Given the description of an element on the screen output the (x, y) to click on. 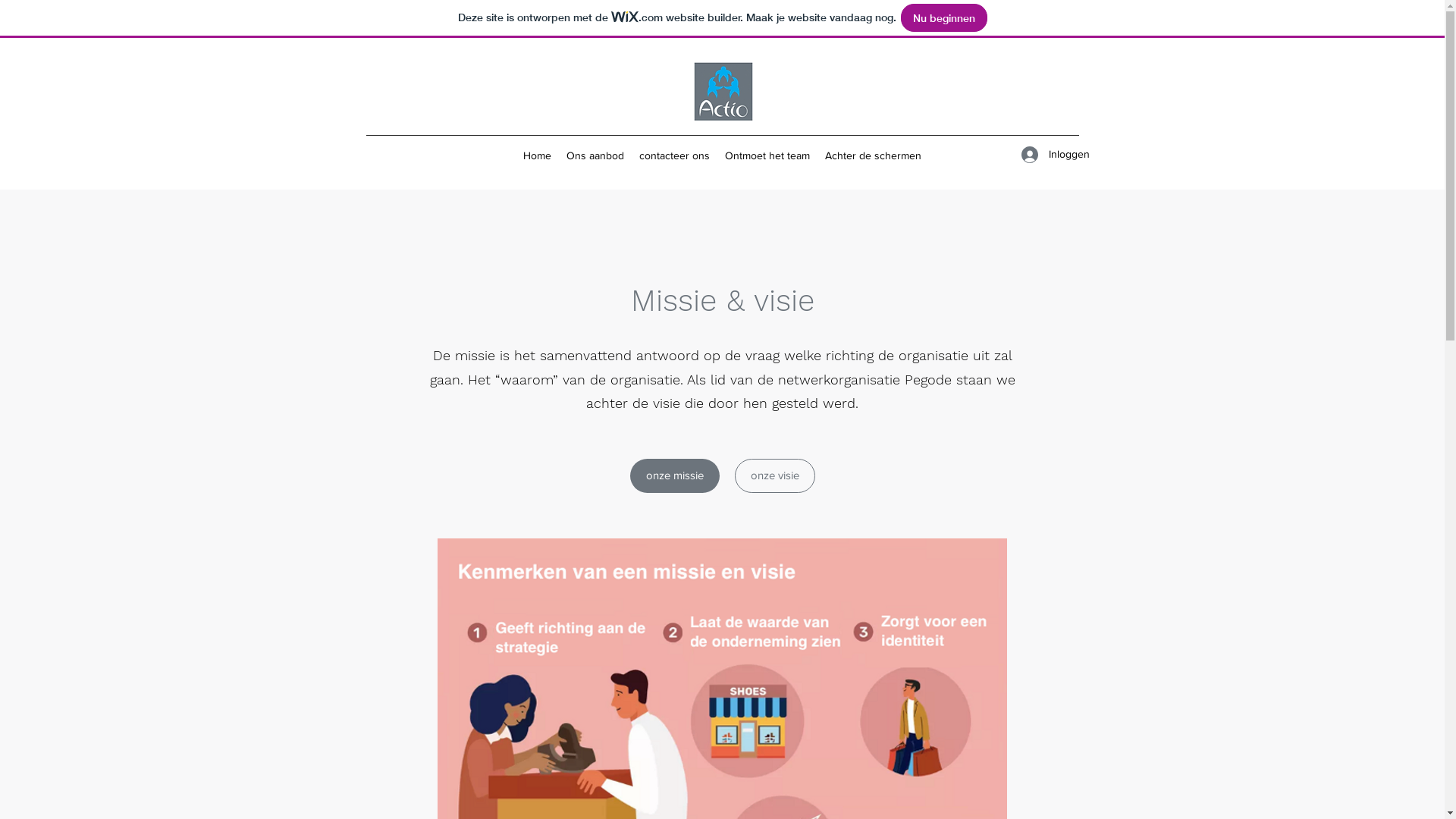
Home Element type: text (536, 155)
Ontmoet het team Element type: text (767, 155)
onze visie Element type: text (774, 475)
contacteer ons Element type: text (674, 155)
Ons aanbod Element type: text (594, 155)
Inloggen Element type: text (1044, 154)
onze missie Element type: text (673, 475)
Achter de schermen Element type: text (872, 155)
